Given the description of an element on the screen output the (x, y) to click on. 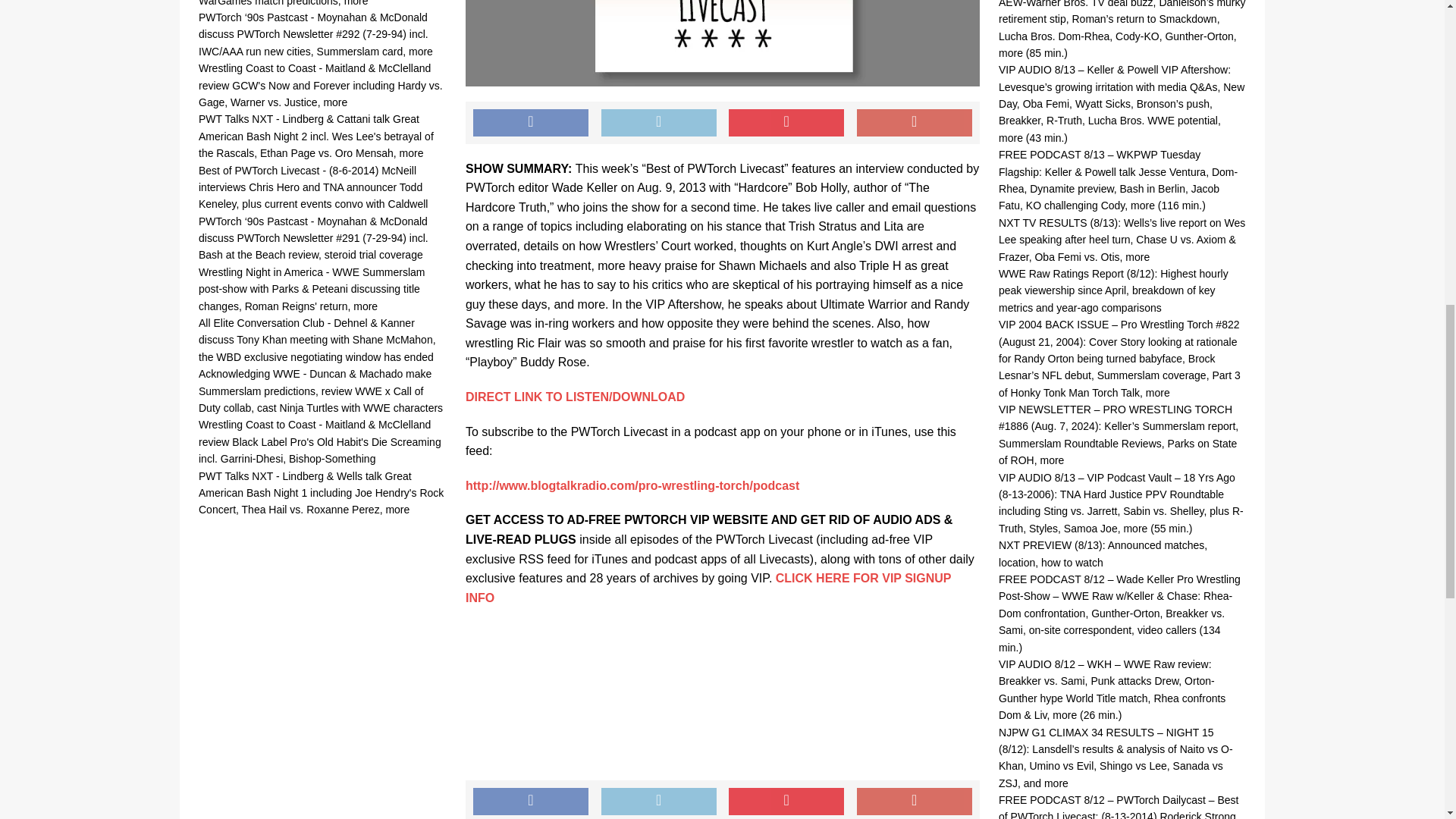
Share on Facebook (530, 800)
Pin This Post (786, 800)
Pin This Post (786, 122)
Tweet This Post (658, 800)
Share on Facebook (530, 122)
Tweet This Post (658, 122)
LivecastBestOf2 (722, 43)
